Given the description of an element on the screen output the (x, y) to click on. 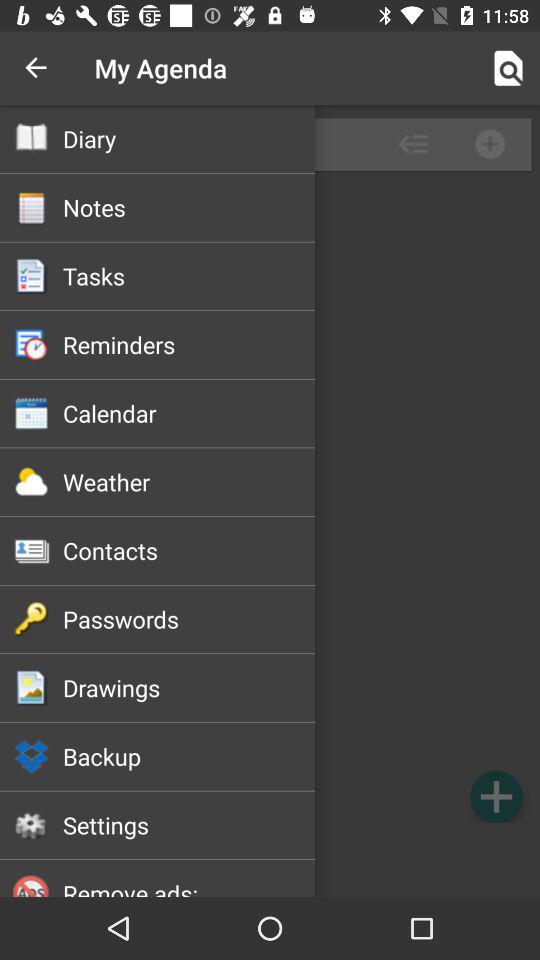
select icon above tasks (188, 207)
